Given the description of an element on the screen output the (x, y) to click on. 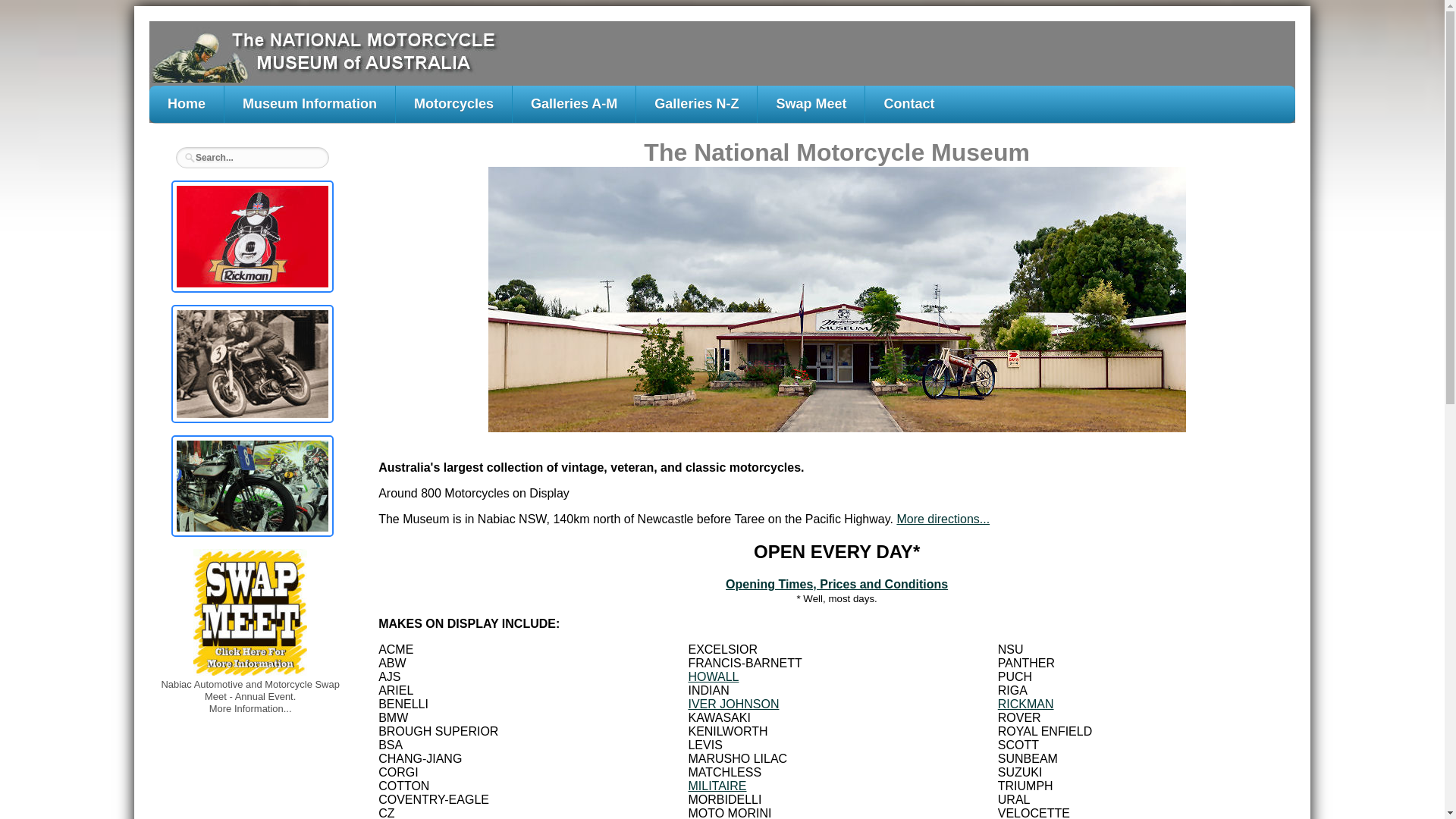
National Motorcycle Museum of Australia Element type: hover (837, 299)
Swap Meet Element type: text (810, 103)
Home Element type: text (186, 103)
Opening Times, Prices and Conditions Element type: text (836, 583)
Click to Enlarge Element type: hover (252, 236)
Click to Enlarge Element type: hover (252, 485)
More Information... Element type: text (250, 708)
RICKMAN Element type: text (1025, 703)
Motorcycles Element type: text (453, 103)
Click to Enlarge Element type: hover (252, 363)
IVER JOHNSON Element type: text (732, 703)
Museum Information Element type: text (309, 103)
HOWALL Element type: text (712, 676)
MILITAIRE Element type: text (716, 785)
Galleries A-M Element type: text (573, 103)
Contact Element type: text (908, 103)
More directions... Element type: text (942, 518)
Galleries N-Z Element type: text (696, 103)
